Given the description of an element on the screen output the (x, y) to click on. 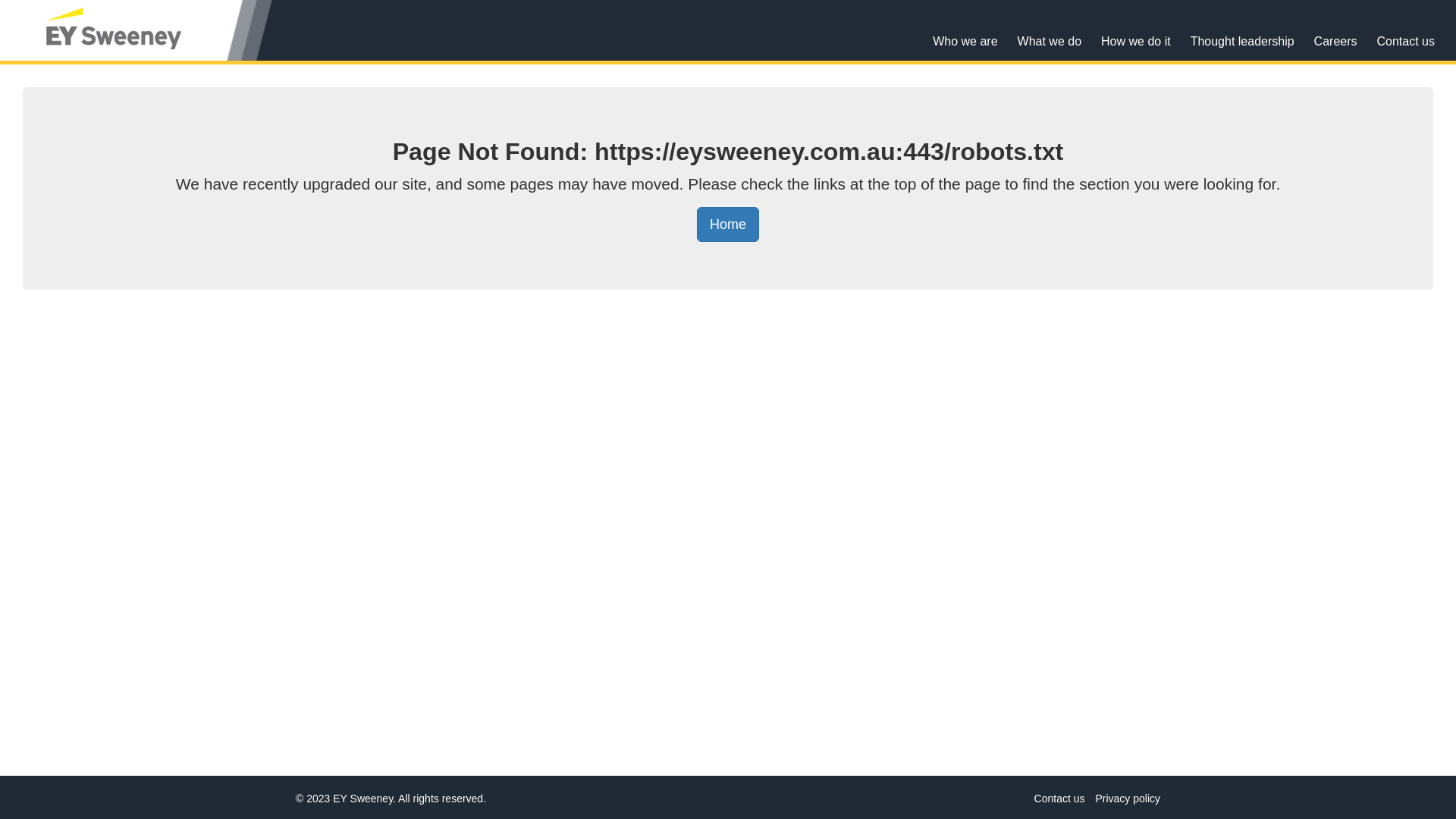
How we do it Element type: text (1135, 40)
Thought leadership Element type: text (1242, 40)
Privacy policy Element type: text (1127, 798)
What we do Element type: text (1049, 40)
Careers Element type: text (1335, 40)
Who we are Element type: text (964, 40)
Contact us Element type: text (1059, 798)
Home Element type: text (727, 224)
Contact us Element type: text (1405, 40)
